Given the description of an element on the screen output the (x, y) to click on. 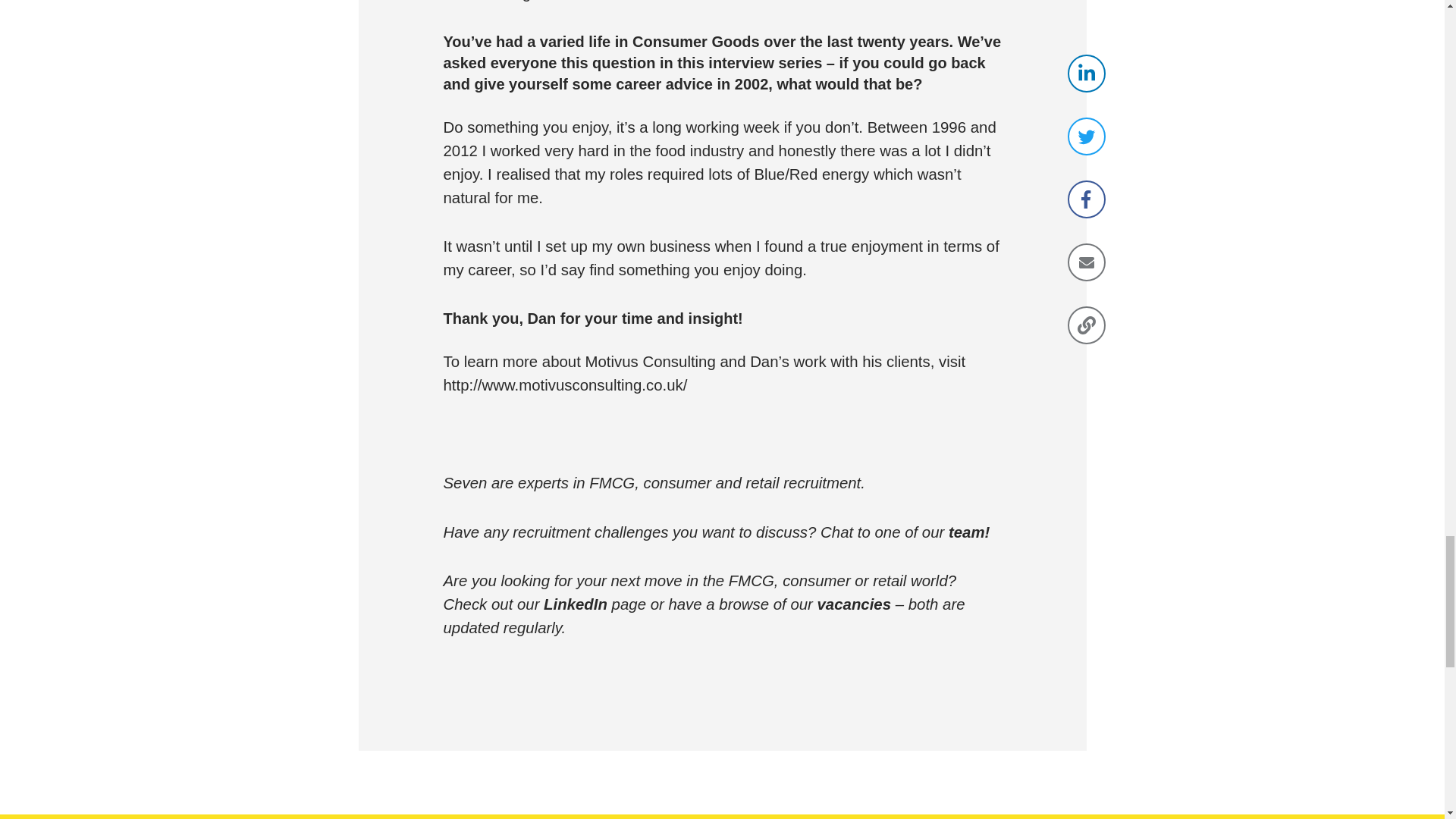
LinkedIn (575, 604)
vacancies (853, 604)
team (967, 532)
